Given the description of an element on the screen output the (x, y) to click on. 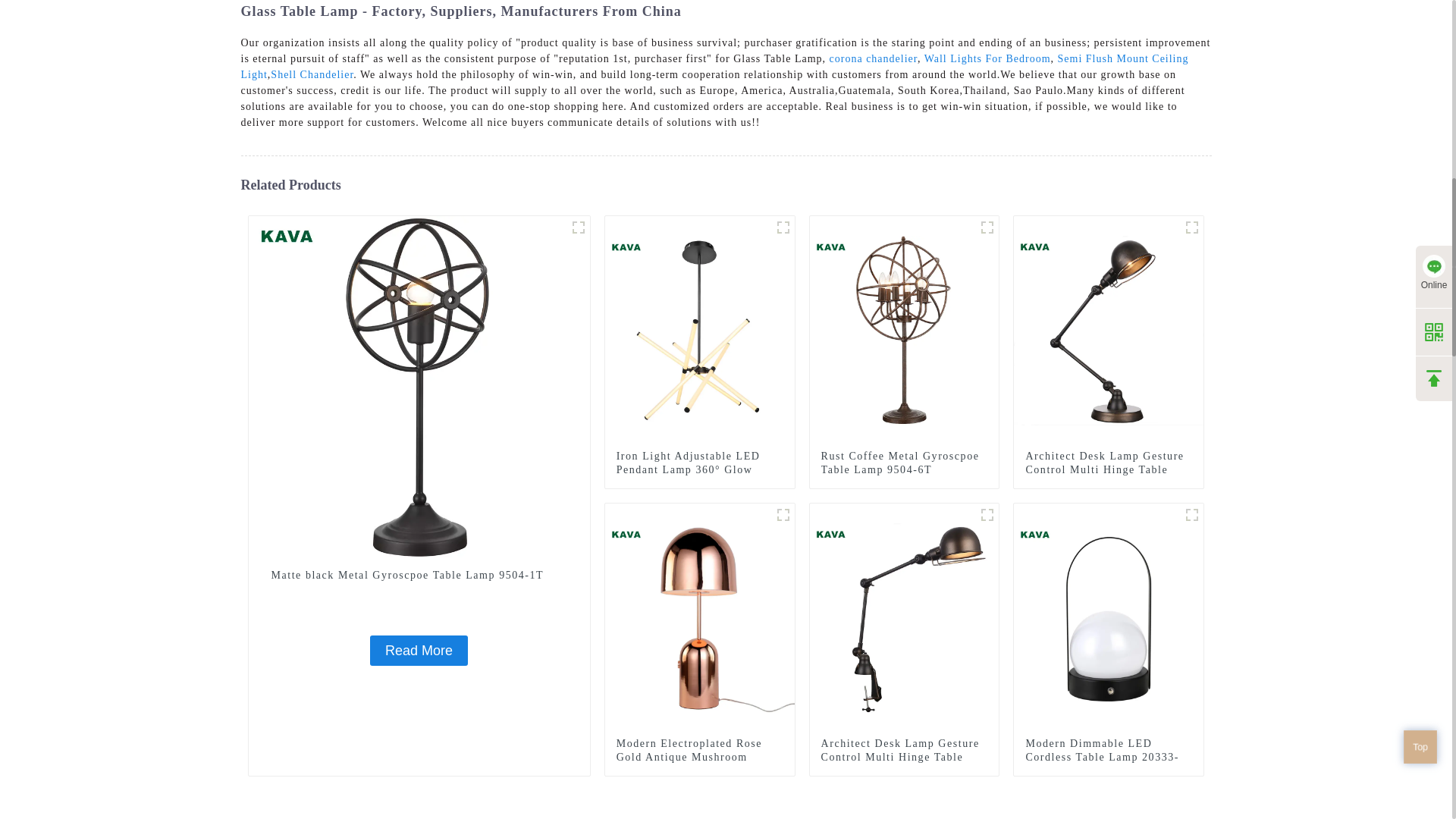
Rust Coffee Metal Gyroscpoe Table Lamp 9504-6T (986, 227)
Matte black Metal Gyroscpoe Table Lamp 9504-1T (418, 650)
Matte black Metal Gyroscpoe Table Lamp 9504-1T (418, 386)
Rust Coffee Metal Gyroscpoe Table Lamp 9504-6T (904, 462)
Matte black Metal Gyroscpoe Table Lamp 9504-1T (578, 227)
Rust Coffee Metal Gyroscpoe Table Lamp 9504-6T (903, 329)
Wall Lights For Bedroom (987, 58)
corona chandelier (873, 58)
Shell Chandelier (311, 74)
Semi Flush Mount Ceiling Light (715, 66)
